Given the description of an element on the screen output the (x, y) to click on. 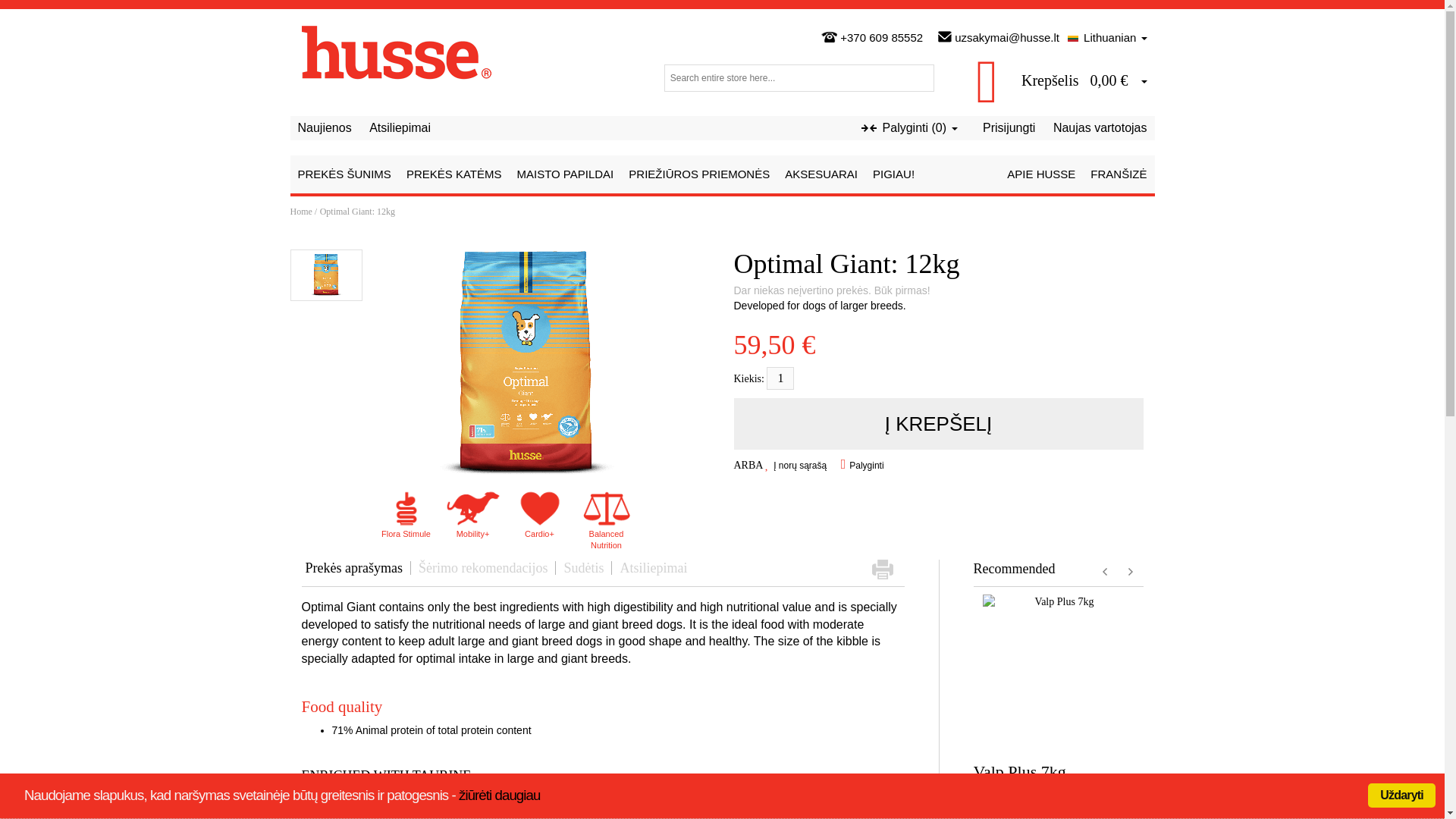
Prisijungti (1008, 127)
Valp Plus 7kg (1058, 670)
1 (780, 377)
Naujas vartotojas (1099, 127)
Atsiliepimai (399, 127)
Kiekis (780, 377)
Optimal Giant: 12kg  (325, 274)
Valp Plus 7kg (1019, 771)
Naujienos (323, 127)
Optimal Giant: 12kg  (523, 362)
